Given the description of an element on the screen output the (x, y) to click on. 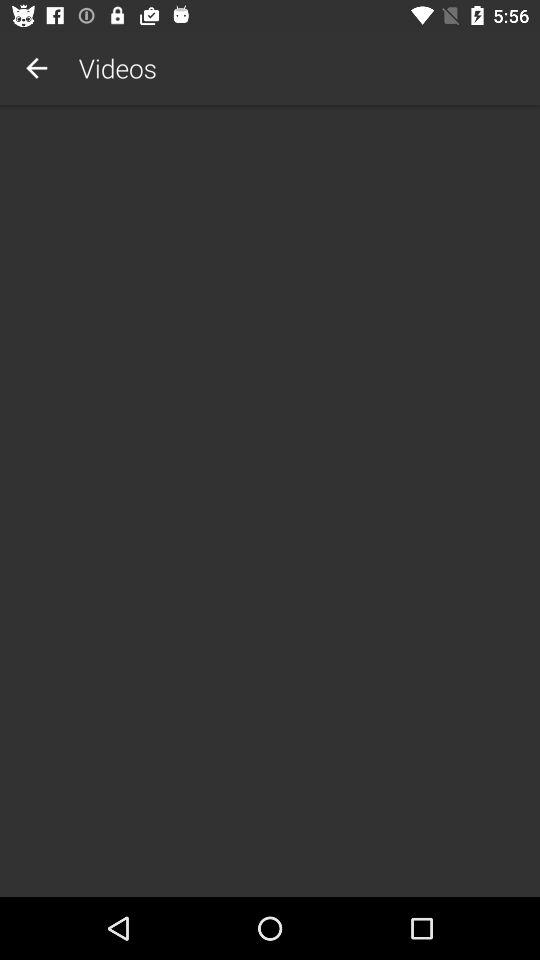
choose item next to videos icon (36, 68)
